Given the description of an element on the screen output the (x, y) to click on. 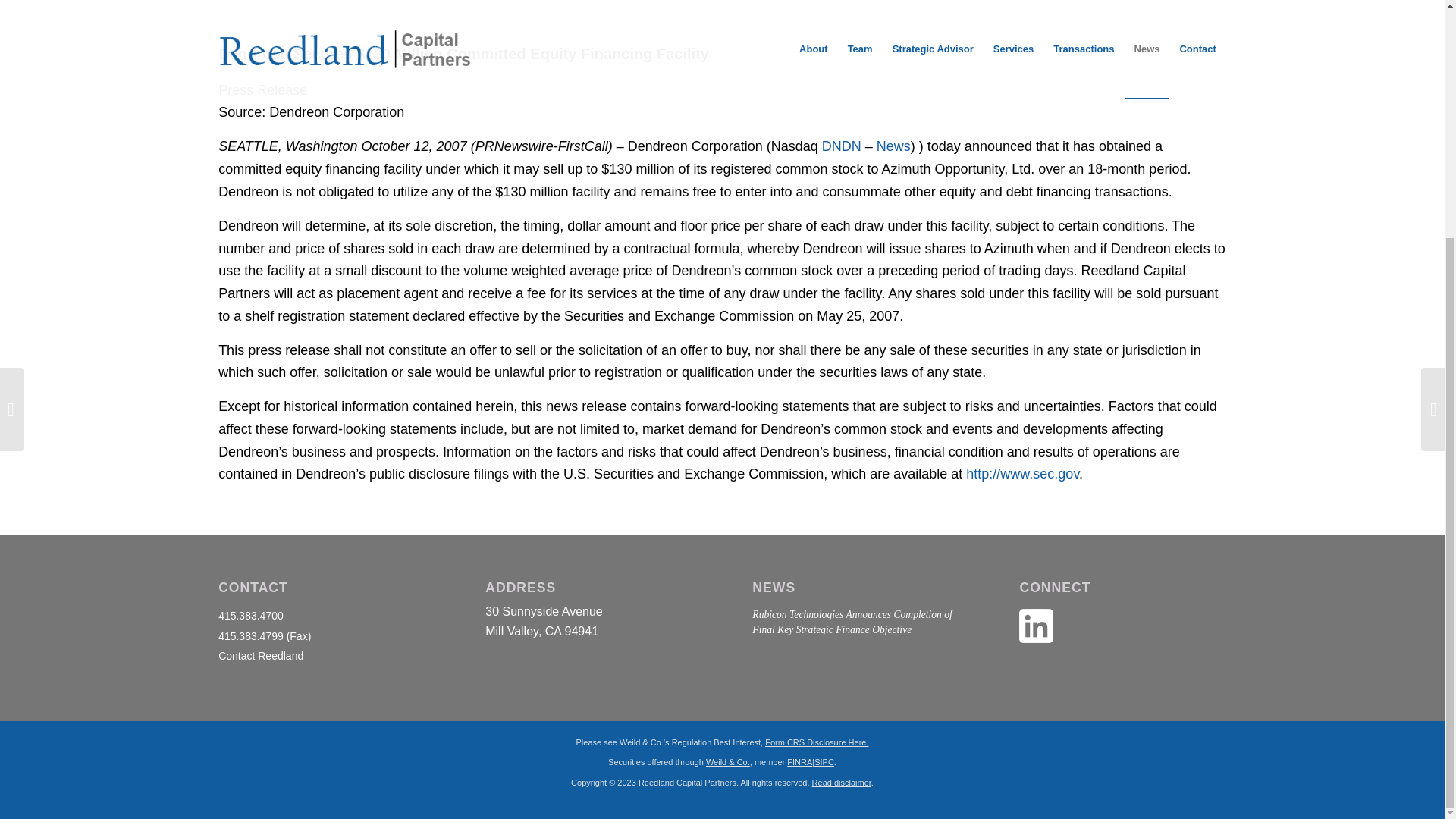
News (893, 145)
SIPC (823, 761)
DNDN (841, 145)
Contact Reedland (543, 621)
Form CRS Disclosure Here. (260, 655)
FINRA (816, 741)
Read disclaimer (799, 761)
415.383.4700 (841, 782)
Dendreon (250, 615)
